Given the description of an element on the screen output the (x, y) to click on. 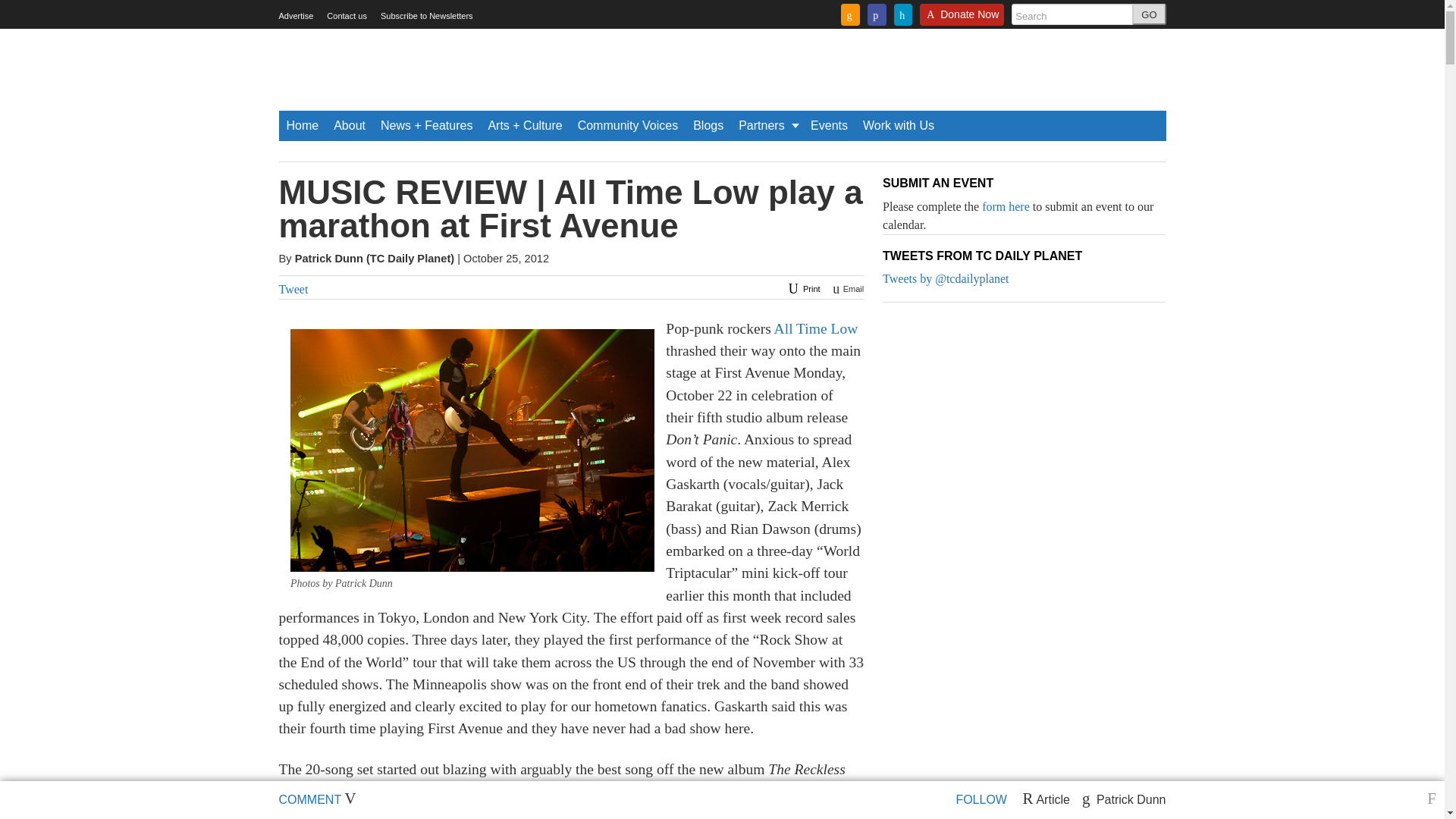
Print (801, 288)
Subscribe to Newsletters (426, 15)
Work with Us (899, 125)
About (349, 125)
TC Daily Planet (409, 258)
Contact us (346, 15)
Blogs (707, 125)
Partners (766, 125)
Read Posts in the Article category (1045, 799)
Donate Now (962, 19)
